Given the description of an element on the screen output the (x, y) to click on. 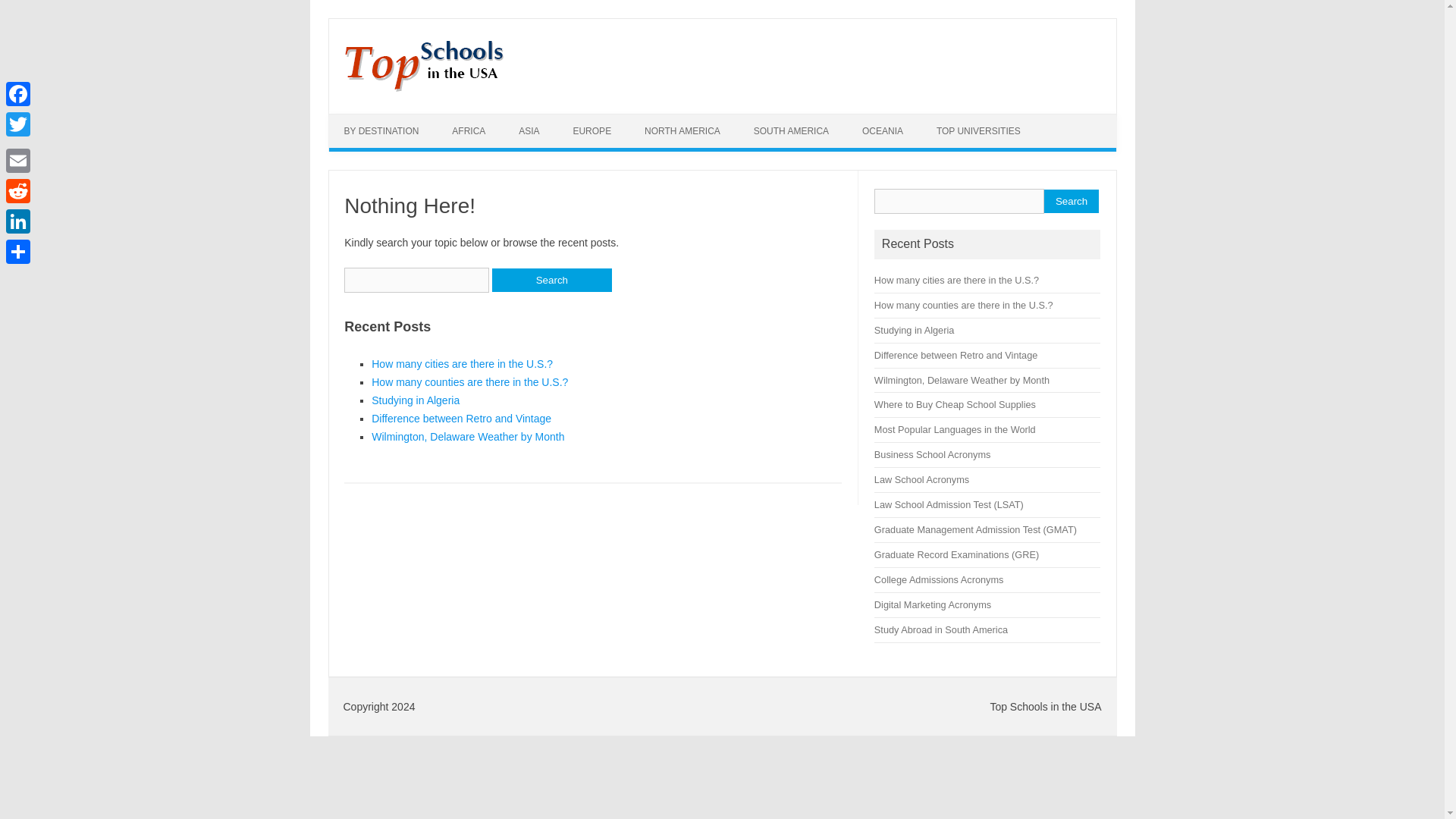
Studying in Algeria (914, 329)
Search (551, 279)
Twitter (17, 123)
Wilmington, Delaware Weather by Month (962, 379)
LinkedIn (17, 221)
Studying in Algeria (415, 399)
Difference between Retro and Vintage (461, 418)
AFRICA (468, 131)
NORTH AMERICA (681, 131)
TOP UNIVERSITIES (978, 131)
